Given the description of an element on the screen output the (x, y) to click on. 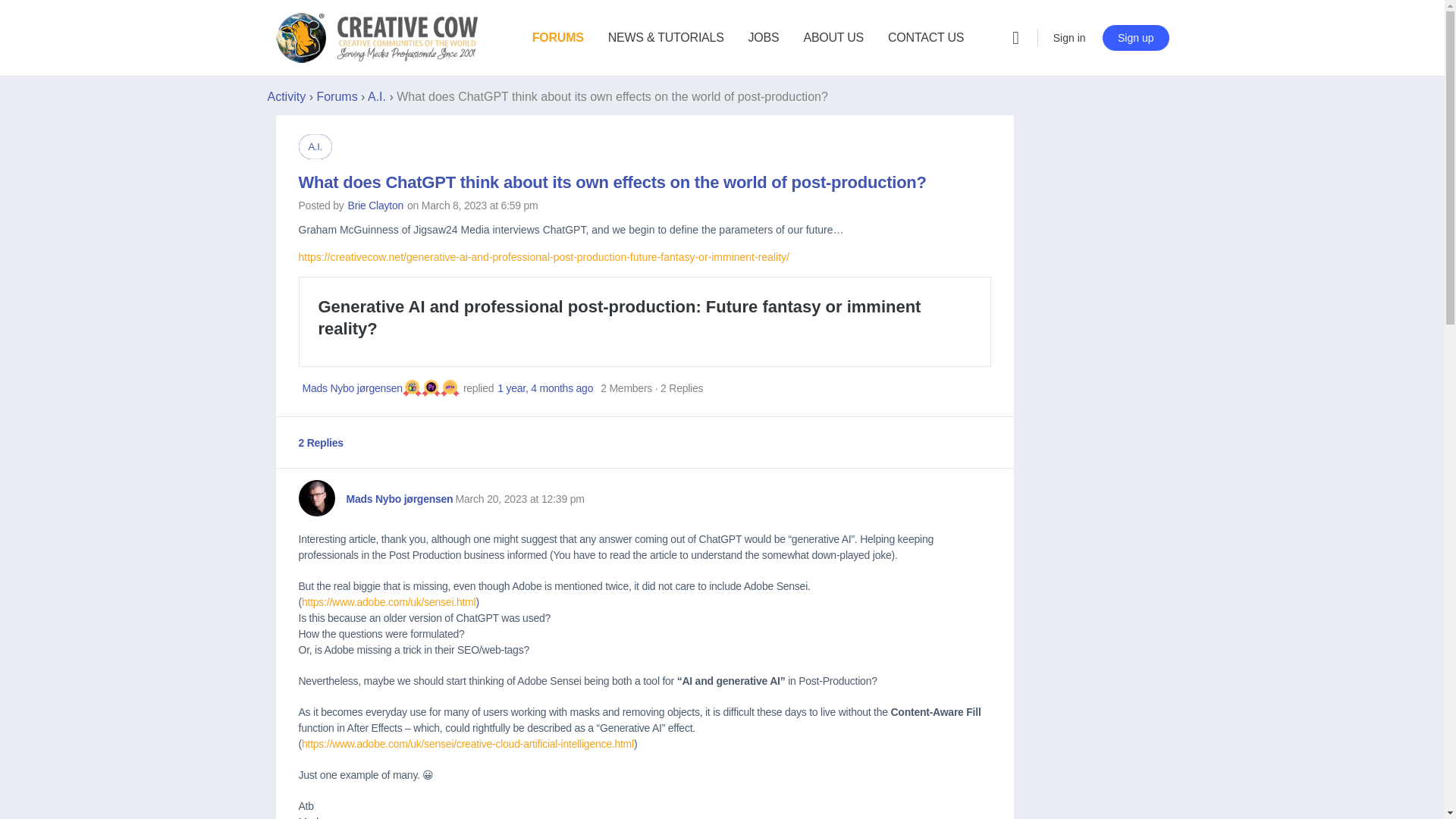
FORUMS (557, 38)
JOBS (763, 38)
View Brie Clayton's profile (375, 204)
